Given the description of an element on the screen output the (x, y) to click on. 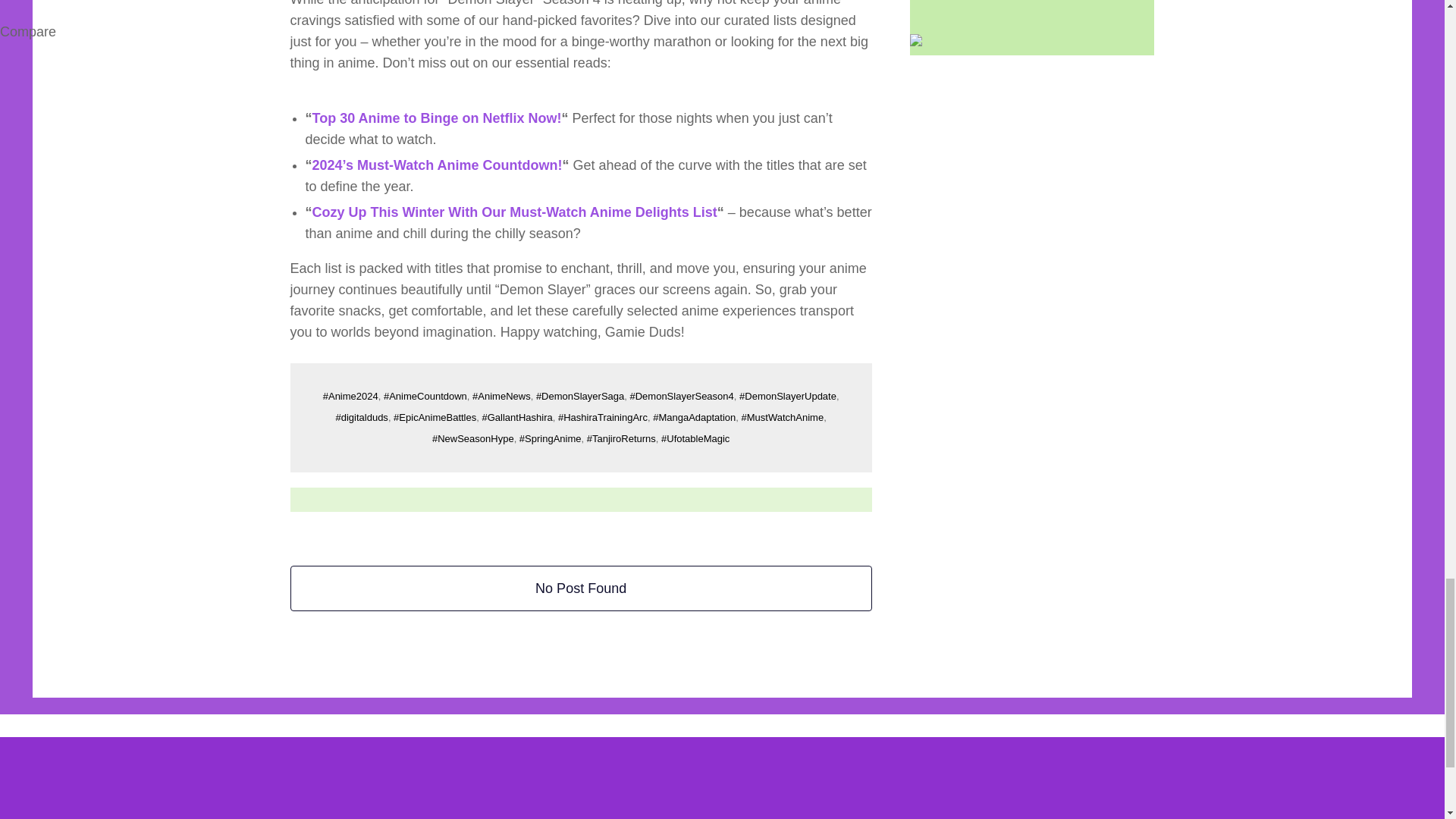
Top 30 Anime to Binge on Netflix Now! (437, 118)
Cozy Up This Winter With Our Must-Watch Anime Delights List (515, 212)
